Given the description of an element on the screen output the (x, y) to click on. 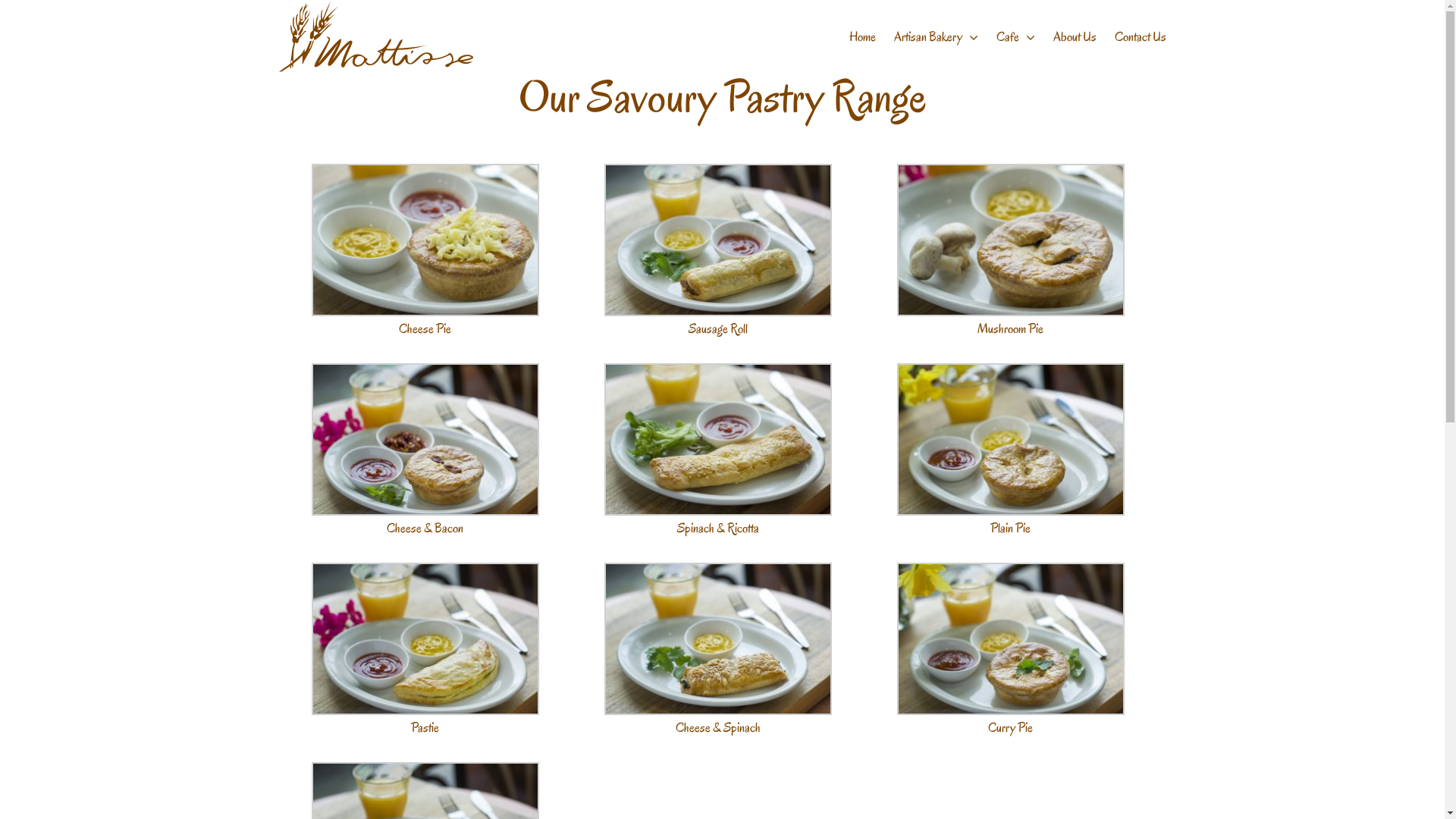
Artisan Bakery Element type: text (935, 37)
Cafe Element type: text (1015, 37)
Contact Us Element type: text (1140, 37)
About Us Element type: text (1073, 37)
Home Element type: text (862, 37)
